Given the description of an element on the screen output the (x, y) to click on. 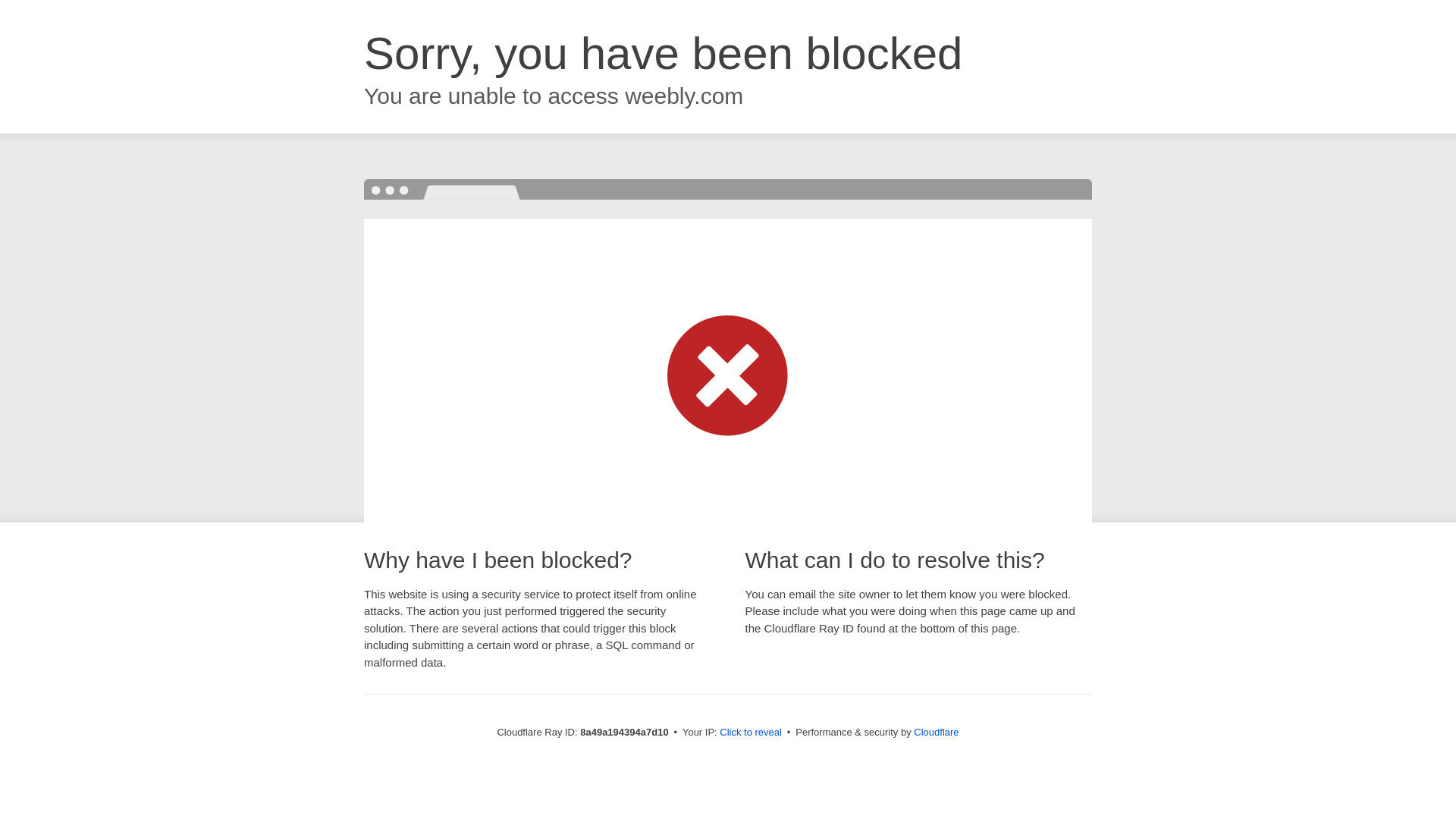
Cloudflare (936, 731)
Click to reveal (750, 732)
